Given the description of an element on the screen output the (x, y) to click on. 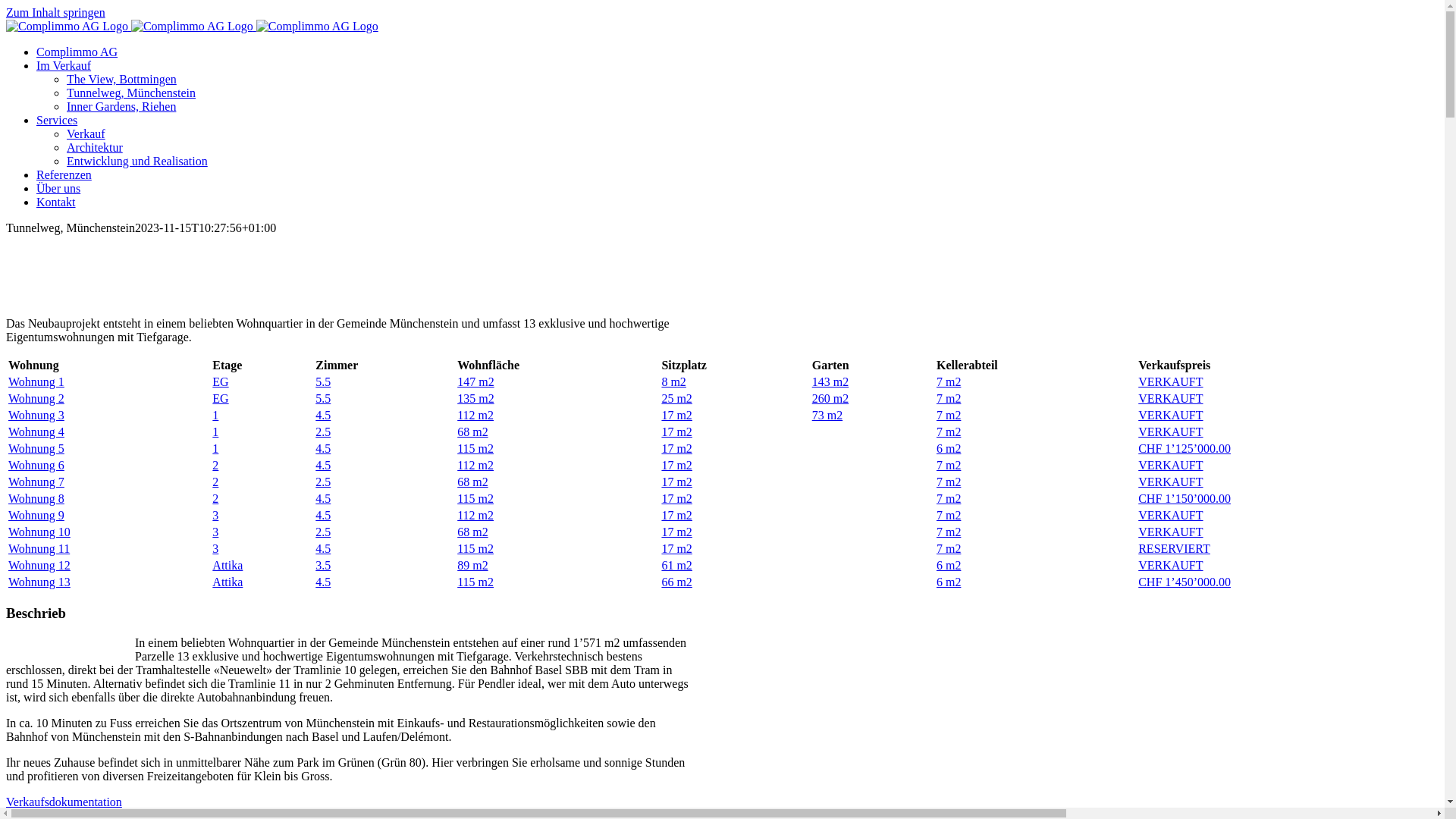
115 m2 Element type: text (475, 448)
7 m2 Element type: text (948, 531)
Wohnung 10 Element type: text (39, 531)
Complimmo AG Element type: text (76, 51)
4.5 Element type: text (322, 548)
VERKAUFT Element type: text (1170, 381)
6 m2 Element type: text (948, 448)
6 m2 Element type: text (948, 581)
Referenzen Element type: text (63, 174)
4.5 Element type: text (322, 464)
89 m2 Element type: text (472, 564)
VERKAUFT Element type: text (1170, 564)
5.5 Element type: text (322, 398)
Attika Element type: text (227, 581)
EG Element type: text (220, 398)
1 Element type: text (215, 448)
66 m2 Element type: text (676, 581)
2 Element type: text (215, 481)
17 m2 Element type: text (676, 414)
Wohnung 3 Element type: text (36, 414)
Zum Inhalt springen Element type: text (55, 12)
17 m2 Element type: text (676, 481)
2.5 Element type: text (322, 481)
7 m2 Element type: text (948, 548)
EG Element type: text (220, 381)
7 m2 Element type: text (948, 431)
Inner Gardens, Riehen Element type: text (120, 106)
Wohnung 1 Element type: text (36, 381)
7 m2 Element type: text (948, 381)
68 m2 Element type: text (472, 531)
112 m2 Element type: text (475, 414)
115 m2 Element type: text (475, 498)
17 m2 Element type: text (676, 514)
4.5 Element type: text (322, 448)
Attika Element type: text (227, 564)
1 Element type: text (215, 431)
115 m2 Element type: text (475, 548)
73 m2 Element type: text (827, 414)
Verkauf Element type: text (85, 133)
Wohnung 9 Element type: text (36, 514)
17 m2 Element type: text (676, 548)
17 m2 Element type: text (676, 448)
6 m2 Element type: text (948, 564)
Kontakt Element type: text (55, 201)
VERKAUFT Element type: text (1170, 398)
RESERVIERT Element type: text (1174, 548)
Im Verkauf Element type: text (63, 65)
The View, Bottmingen Element type: text (121, 78)
143 m2 Element type: text (830, 381)
7 m2 Element type: text (948, 498)
17 m2 Element type: text (676, 531)
61 m2 Element type: text (676, 564)
Wohnung 4 Element type: text (36, 431)
112 m2 Element type: text (475, 464)
Wohnung 2 Element type: text (36, 398)
2.5 Element type: text (322, 531)
4.5 Element type: text (322, 498)
Wohnung 8 Element type: text (36, 498)
8 m2 Element type: text (673, 381)
147 m2 Element type: text (475, 381)
Wohnung 6 Element type: text (36, 464)
VERKAUFT Element type: text (1170, 481)
3 Element type: text (215, 514)
260 m2 Element type: text (830, 398)
VERKAUFT Element type: text (1170, 431)
Verkaufsdokumentation Element type: text (64, 801)
17 m2 Element type: text (676, 431)
Wohnung 7 Element type: text (36, 481)
VERKAUFT Element type: text (1170, 531)
3 Element type: text (215, 548)
17 m2 Element type: text (676, 498)
17 m2 Element type: text (676, 464)
Wohnung 5 Element type: text (36, 448)
VERKAUFT Element type: text (1170, 464)
VERKAUFT Element type: text (1170, 414)
3.5 Element type: text (322, 564)
7 m2 Element type: text (948, 398)
4.5 Element type: text (322, 514)
25 m2 Element type: text (676, 398)
3 Element type: text (215, 531)
Services Element type: text (56, 119)
Wohnung 12 Element type: text (39, 564)
4.5 Element type: text (322, 414)
112 m2 Element type: text (475, 514)
Wohnung 13 Element type: text (39, 581)
4.5 Element type: text (322, 581)
7 m2 Element type: text (948, 414)
135 m2 Element type: text (475, 398)
Entwicklung und Realisation Element type: text (136, 160)
VERKAUFT Element type: text (1170, 514)
115 m2 Element type: text (475, 581)
68 m2 Element type: text (472, 431)
7 m2 Element type: text (948, 514)
2 Element type: text (215, 498)
7 m2 Element type: text (948, 481)
Architektur Element type: text (94, 147)
Wohnung 11 Element type: text (38, 548)
2 Element type: text (215, 464)
68 m2 Element type: text (472, 481)
5.5 Element type: text (322, 381)
2.5 Element type: text (322, 431)
7 m2 Element type: text (948, 464)
1 Element type: text (215, 414)
